Given the description of an element on the screen output the (x, y) to click on. 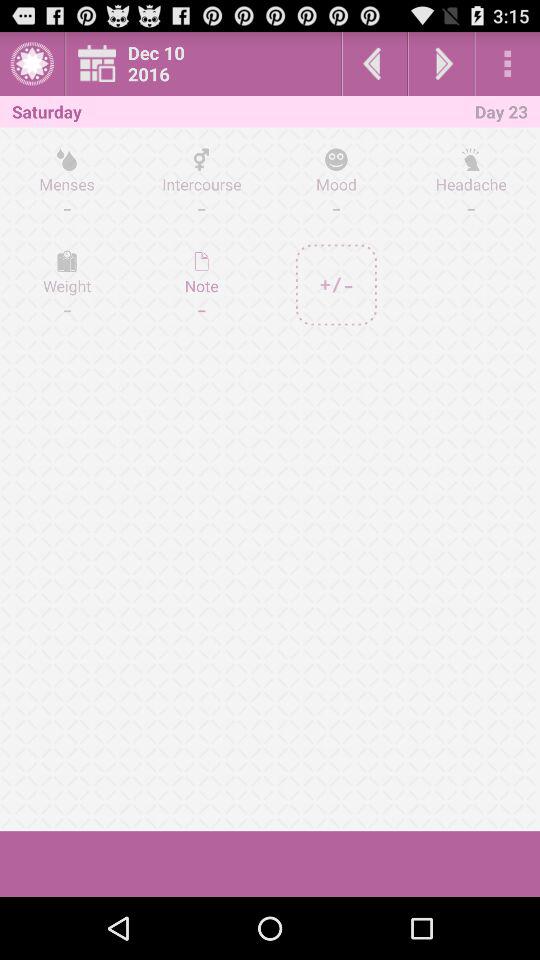
tap the icon to the left of intercourse
_ item (67, 284)
